Given the description of an element on the screen output the (x, y) to click on. 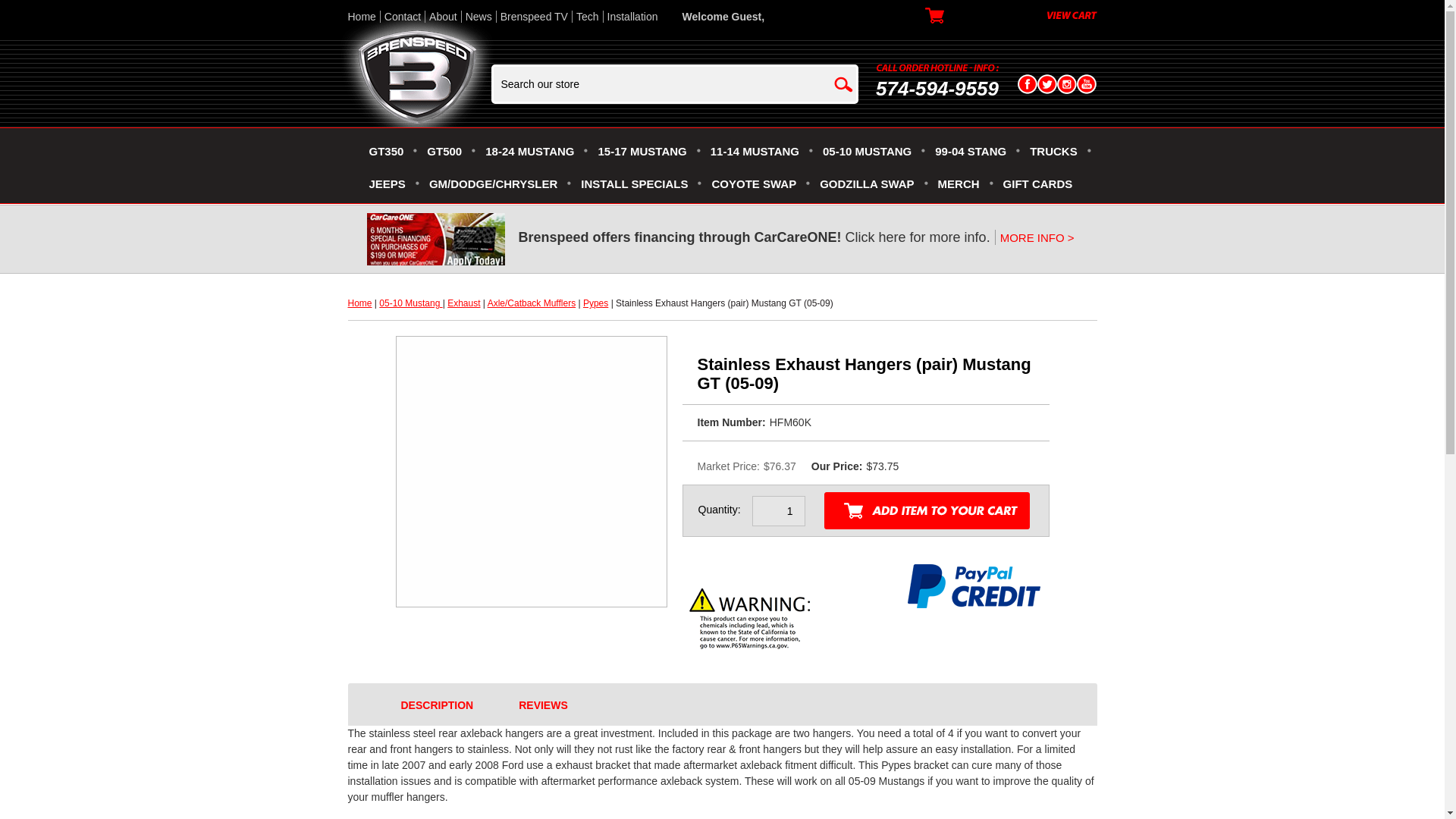
Go (843, 83)
Brenspeed TV (534, 16)
GT500 (443, 154)
Twitter (1046, 84)
Call Order Hotline - Info: (937, 67)
Prop65Warning (750, 622)
Contact (402, 16)
YouTube (1086, 84)
Tech (587, 16)
Facebook (1026, 84)
Instagram (1067, 84)
GT350 (385, 154)
News (478, 16)
Search our store (662, 83)
1 (778, 511)
